Given the description of an element on the screen output the (x, y) to click on. 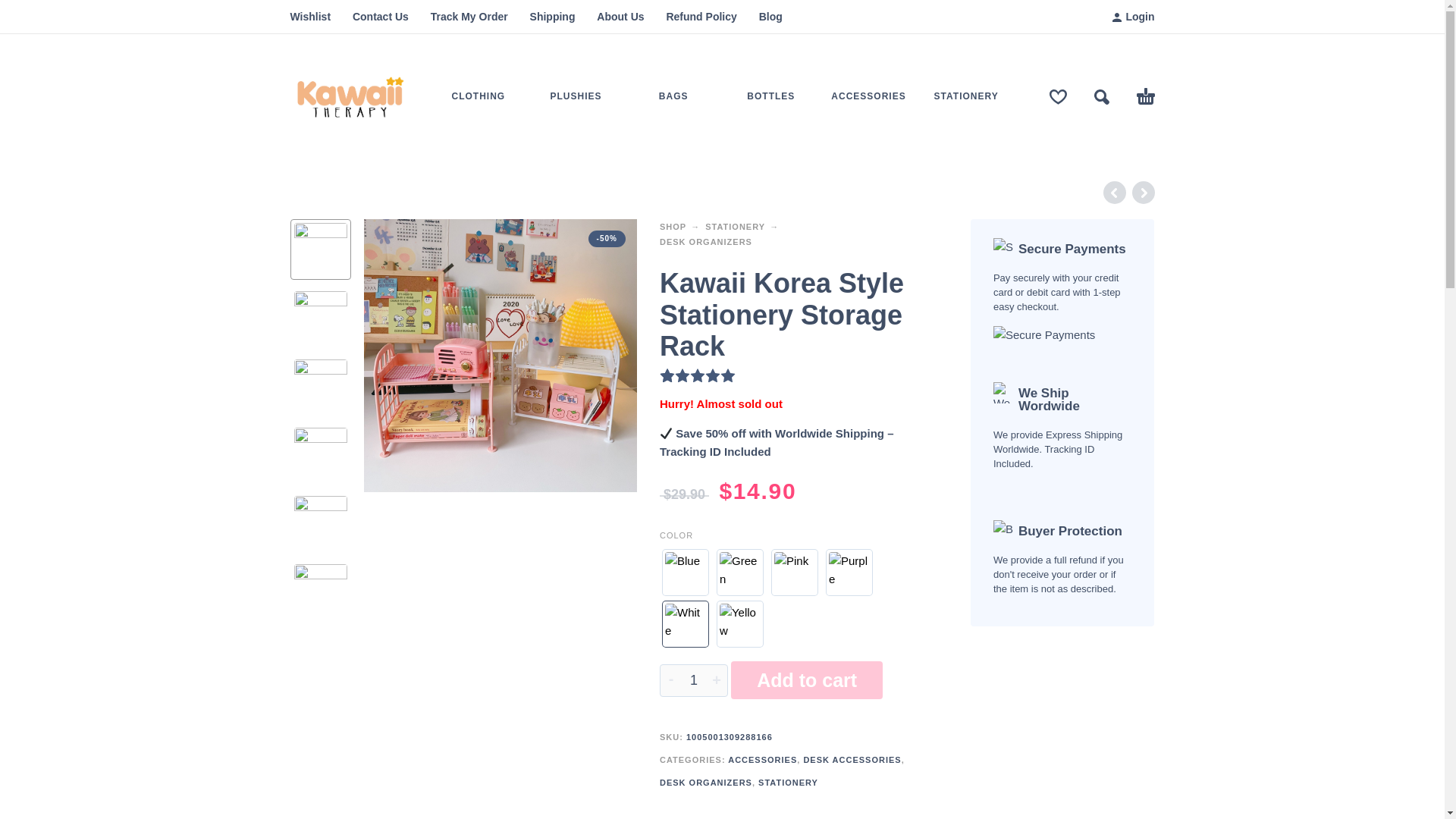
1 (693, 680)
Pink (793, 572)
About Us (619, 16)
Blog (770, 16)
Login (1133, 16)
Blue (684, 572)
PLUSHIES (575, 96)
Wishlist (309, 16)
Qty (693, 680)
Green (739, 572)
